Given the description of an element on the screen output the (x, y) to click on. 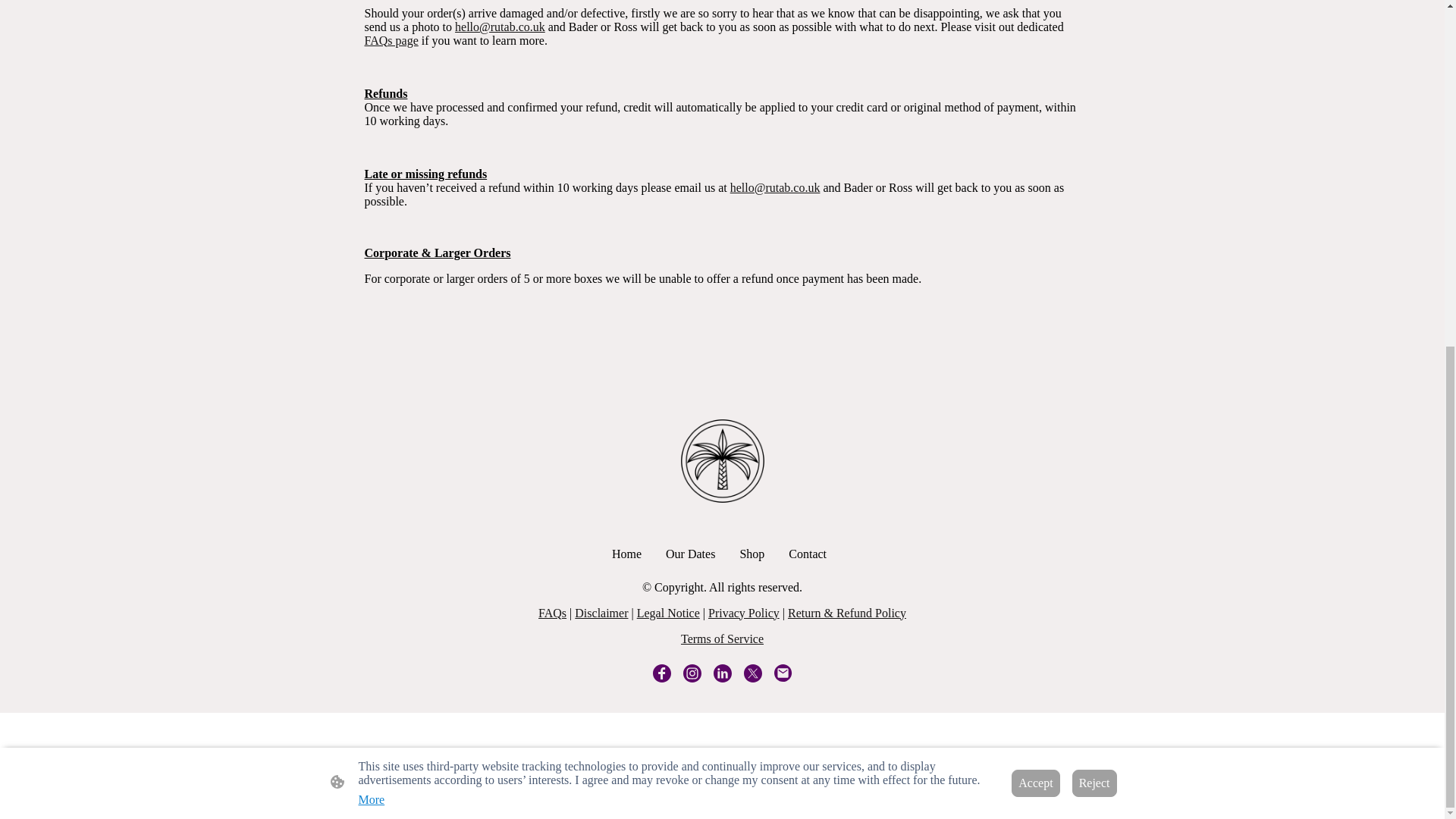
Our Dates (690, 554)
Shop (751, 554)
FAQs page (390, 40)
More (371, 203)
Disclaimer (601, 612)
Accept (1035, 186)
Home (626, 554)
Legal Notice (668, 612)
Privacy Policy (742, 612)
FAQs (552, 612)
Terms of Service (721, 638)
Contact (807, 554)
